Given the description of an element on the screen output the (x, y) to click on. 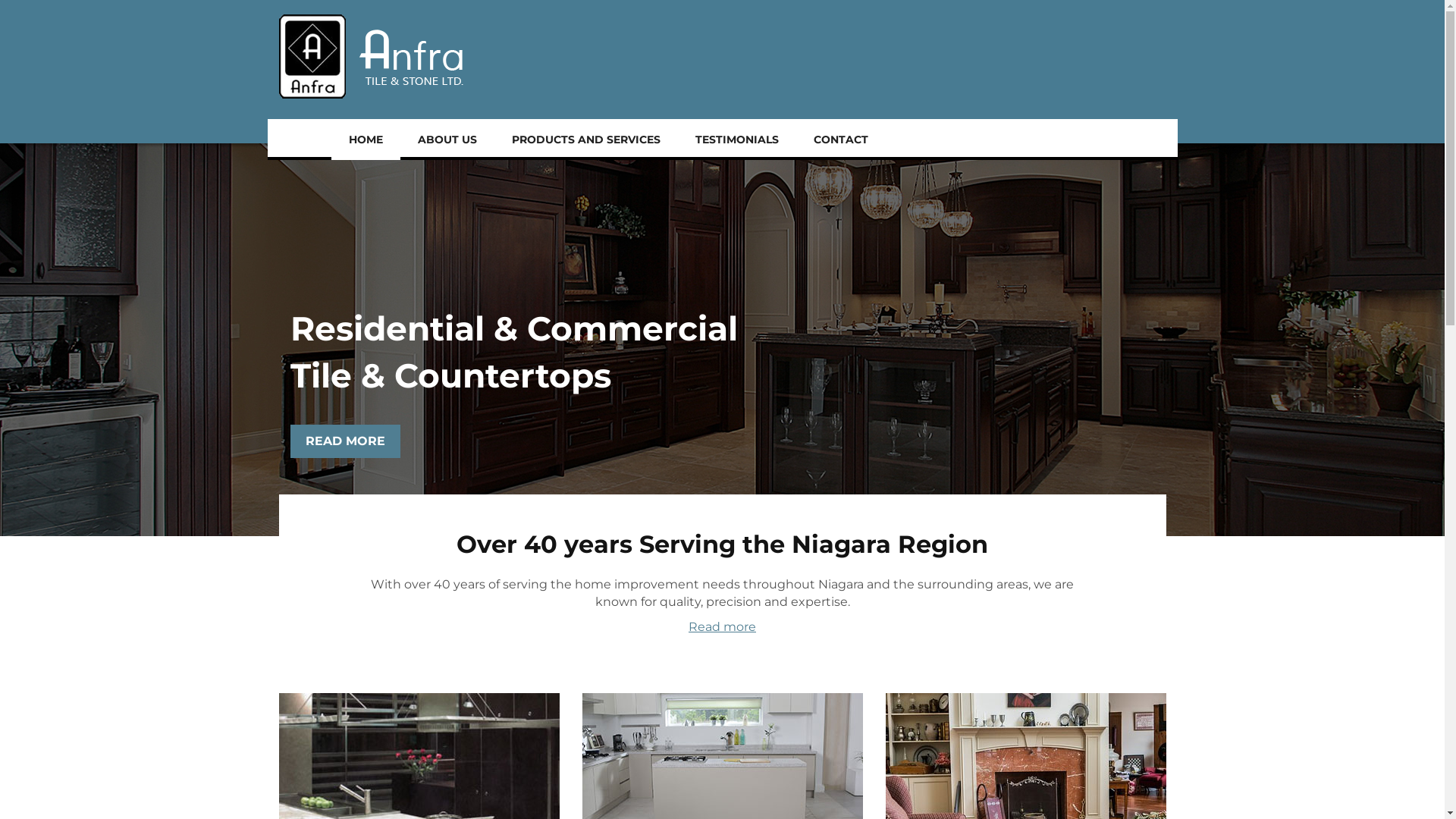
PRODUCTS AND SERVICES Element type: text (585, 139)
CONTACT Element type: text (840, 139)
ABOUT US Element type: text (447, 139)
Read more Element type: text (722, 626)
TESTIMONIALS Element type: text (736, 139)
HOME Element type: text (364, 139)
Skip to content Element type: text (0, 0)
READ MORE Element type: text (345, 441)
